Given the description of an element on the screen output the (x, y) to click on. 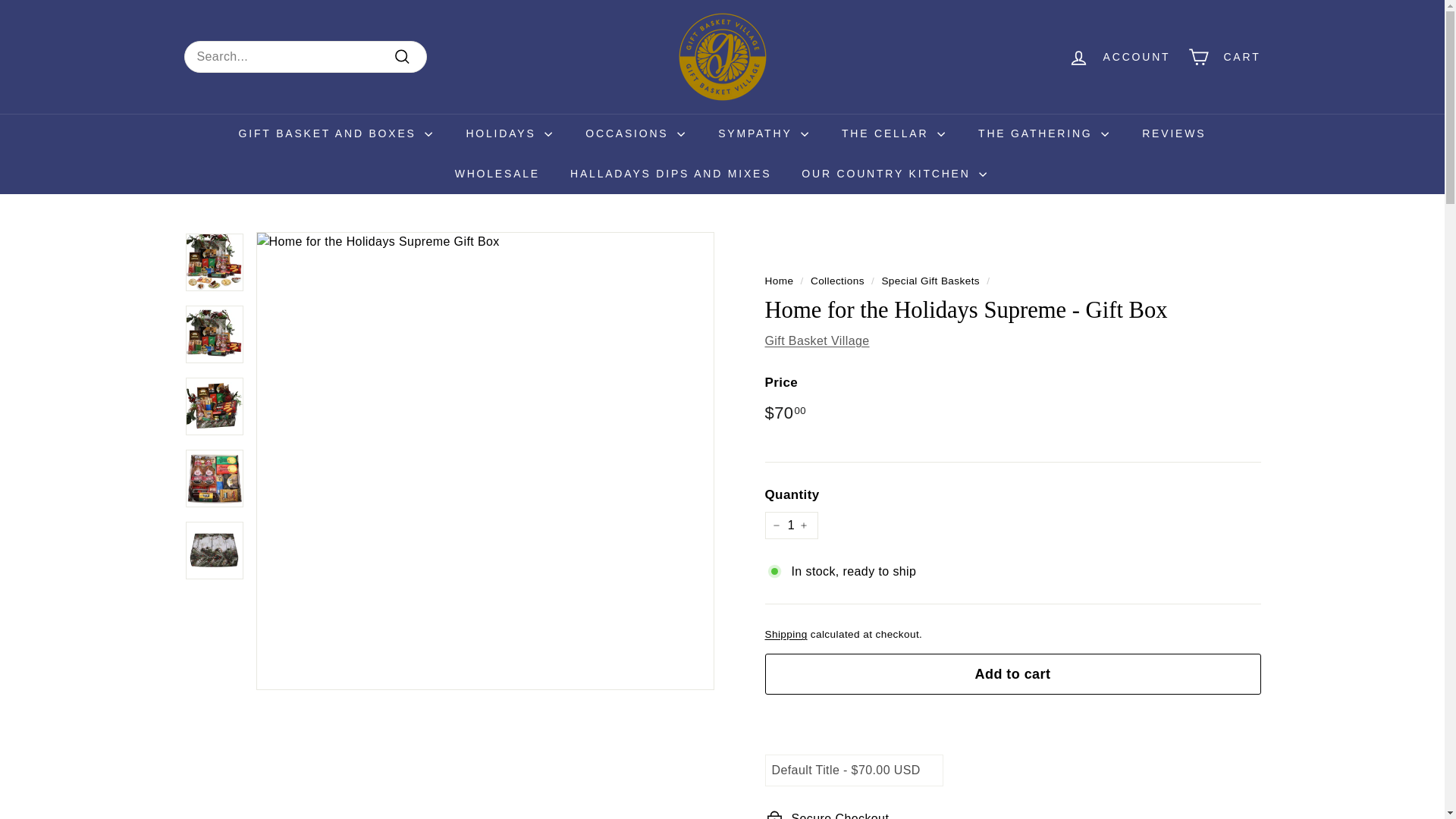
ACCOUNT (1119, 57)
1 (790, 524)
CART (1224, 57)
Back to the frontpage (778, 280)
Gift Basket Village (816, 340)
